Given the description of an element on the screen output the (x, y) to click on. 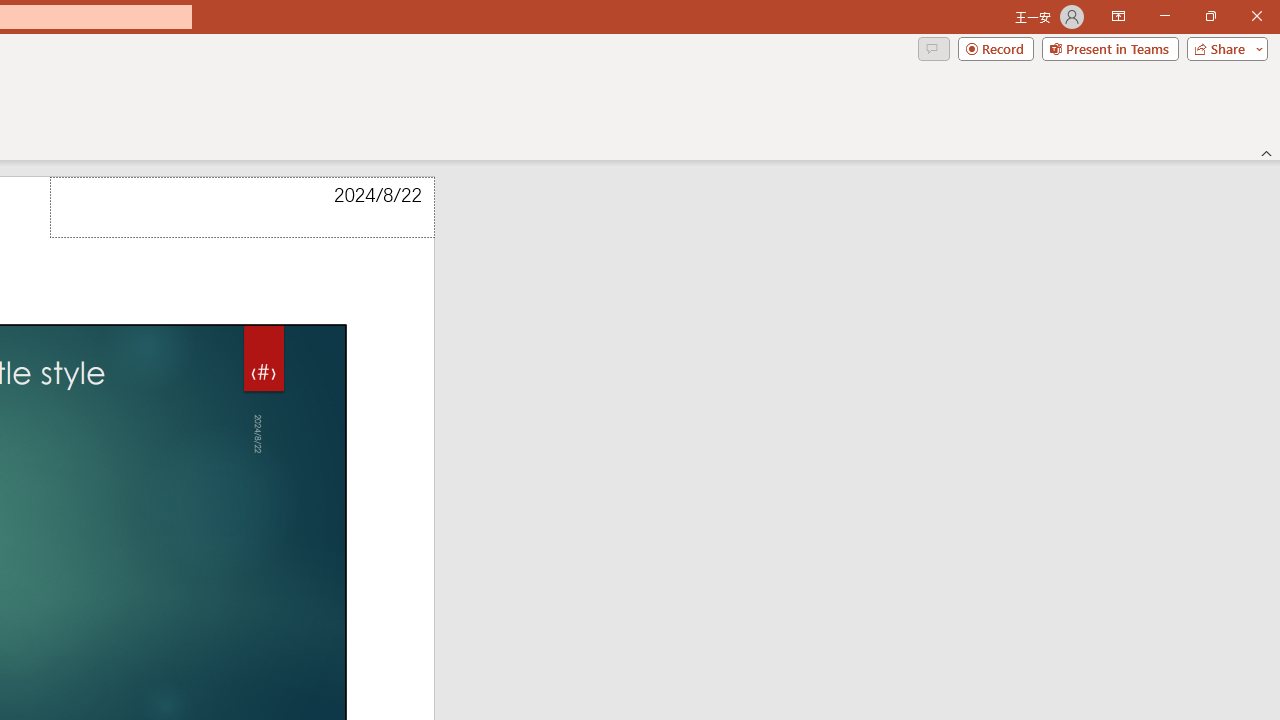
Date (242, 207)
